Given the description of an element on the screen output the (x, y) to click on. 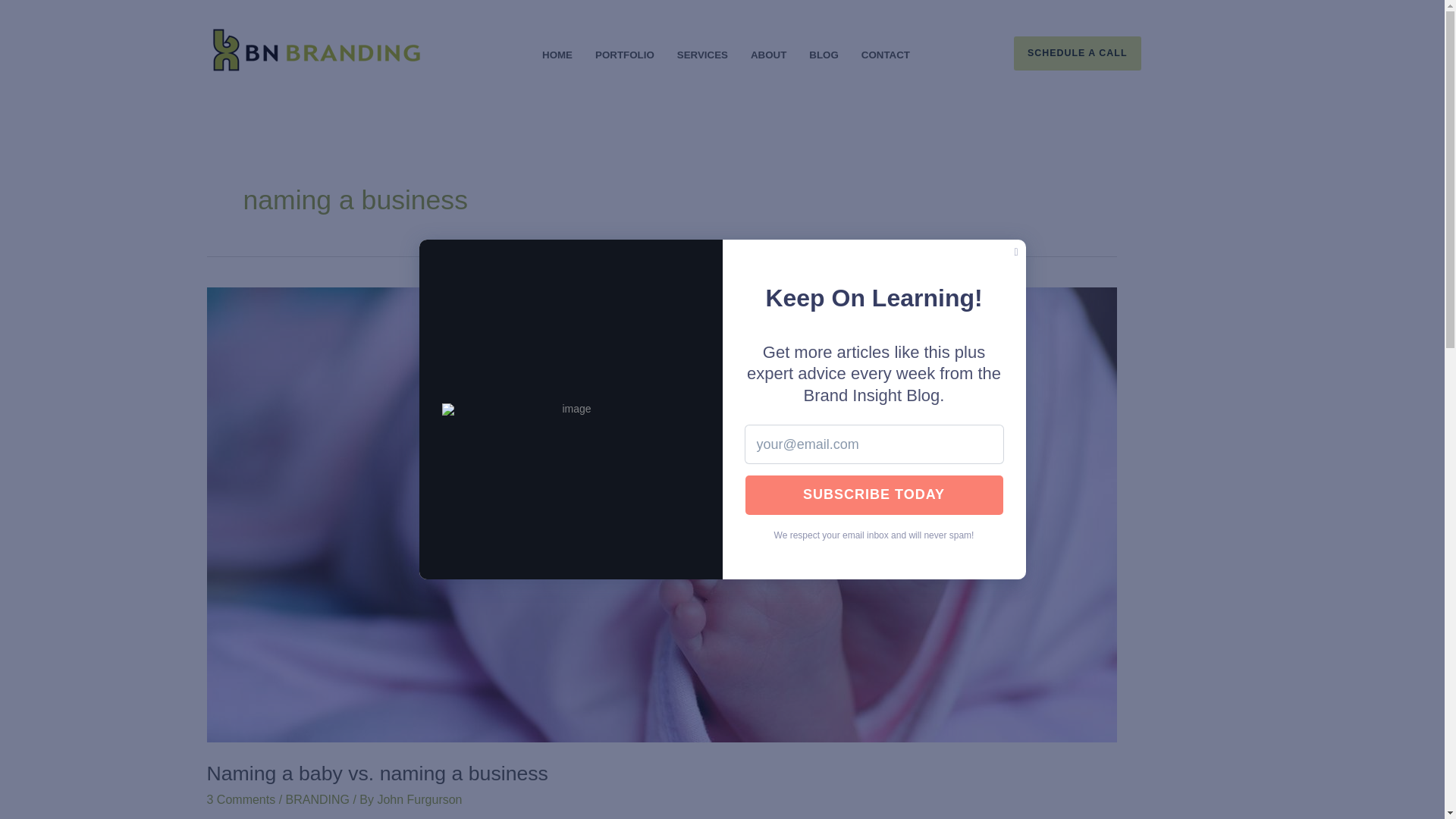
3 Comments (240, 799)
View all posts by John Furgurson (419, 799)
John Furgurson (419, 799)
Naming a baby vs. naming a business (376, 773)
SCHEDULE A CALL (1124, 53)
BRANDING (317, 799)
